Given the description of an element on the screen output the (x, y) to click on. 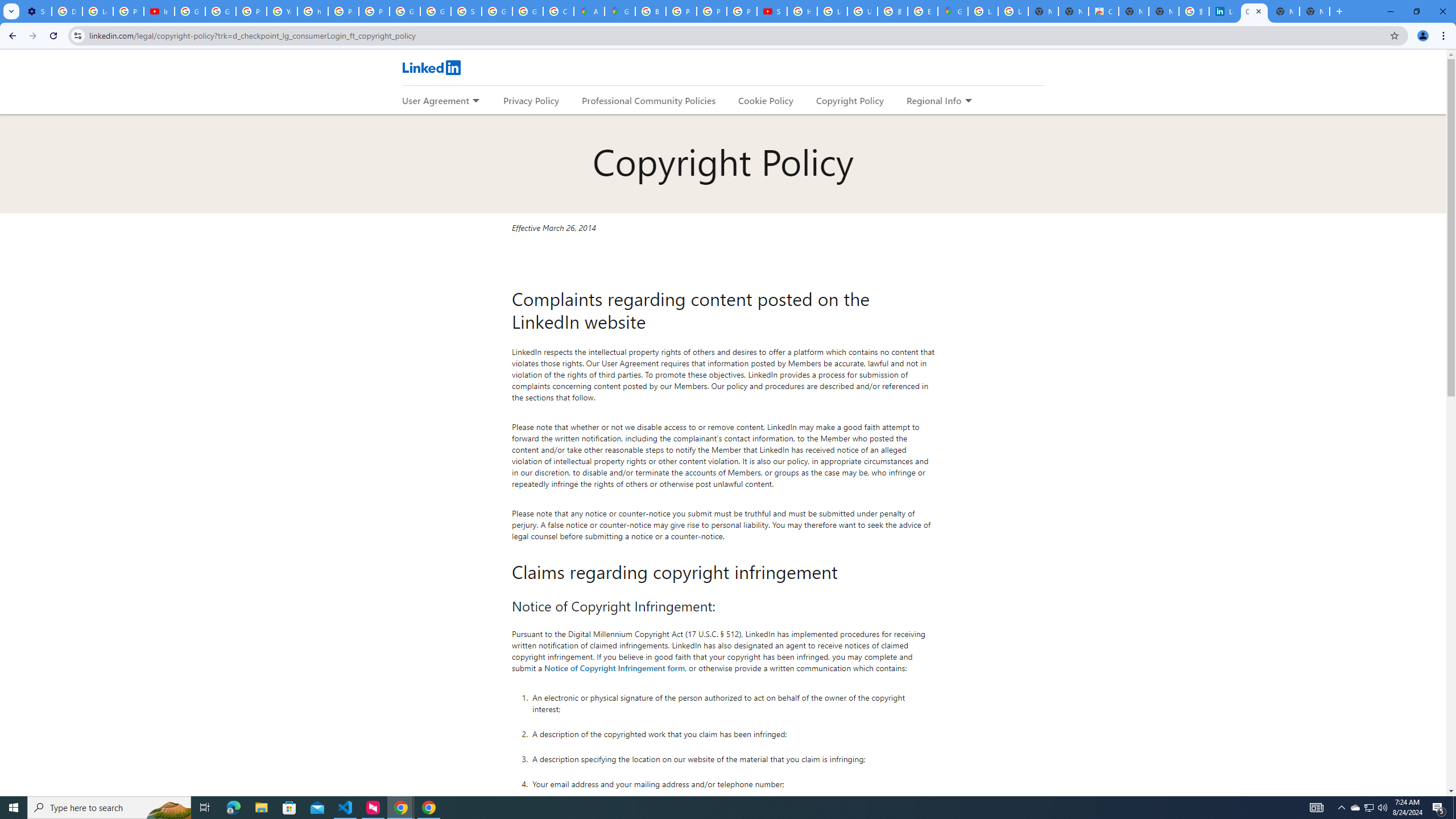
Google Account Help (189, 11)
Chrome Web Store (1103, 11)
Learn how to find your photos - Google Photos Help (97, 11)
Introduction | Google Privacy Policy - YouTube (158, 11)
Privacy Help Center - Policies Help (681, 11)
Copyright Policy (849, 100)
